Given the description of an element on the screen output the (x, y) to click on. 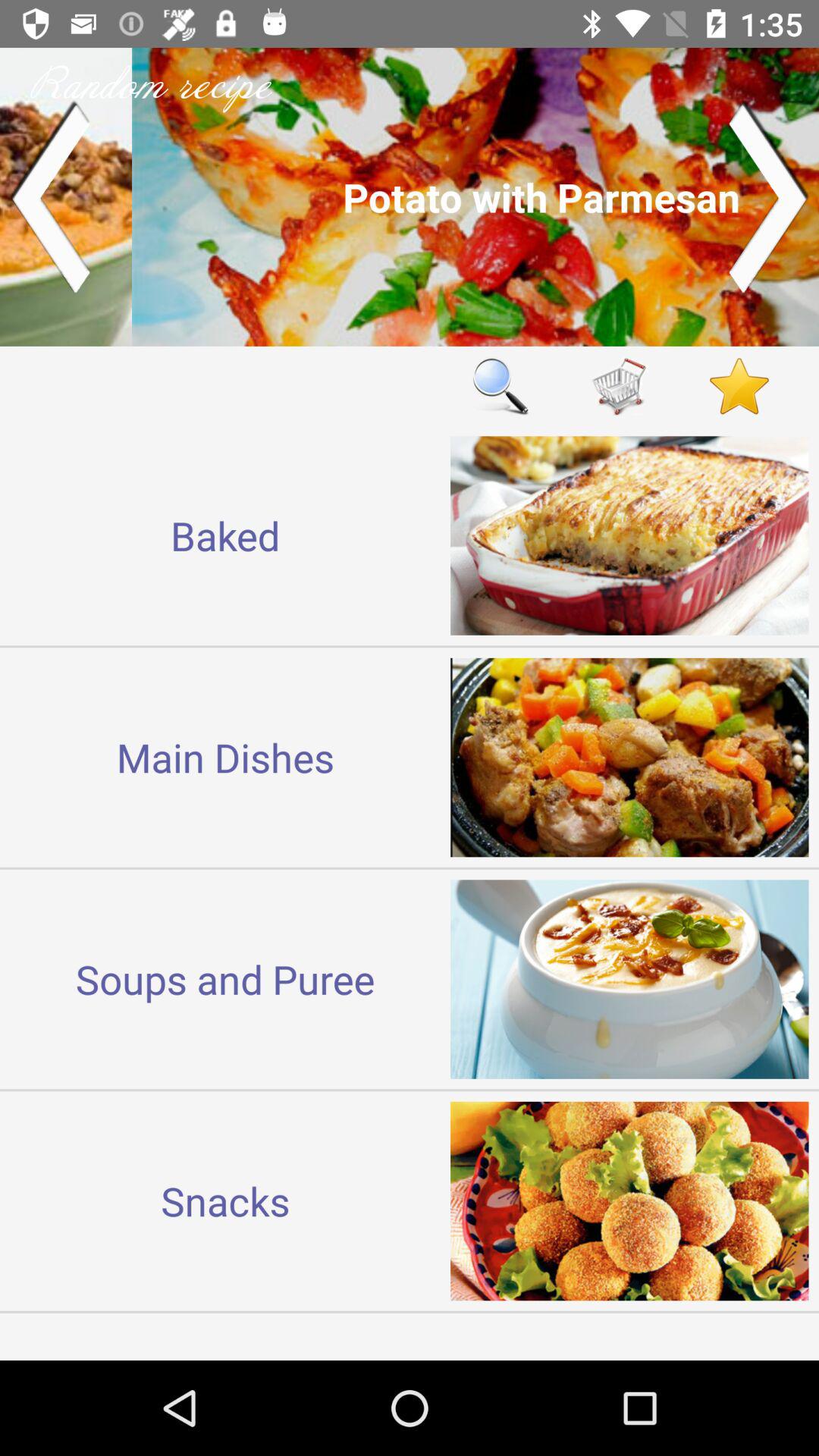
tap the item next to baked icon (500, 385)
